Given the description of an element on the screen output the (x, y) to click on. 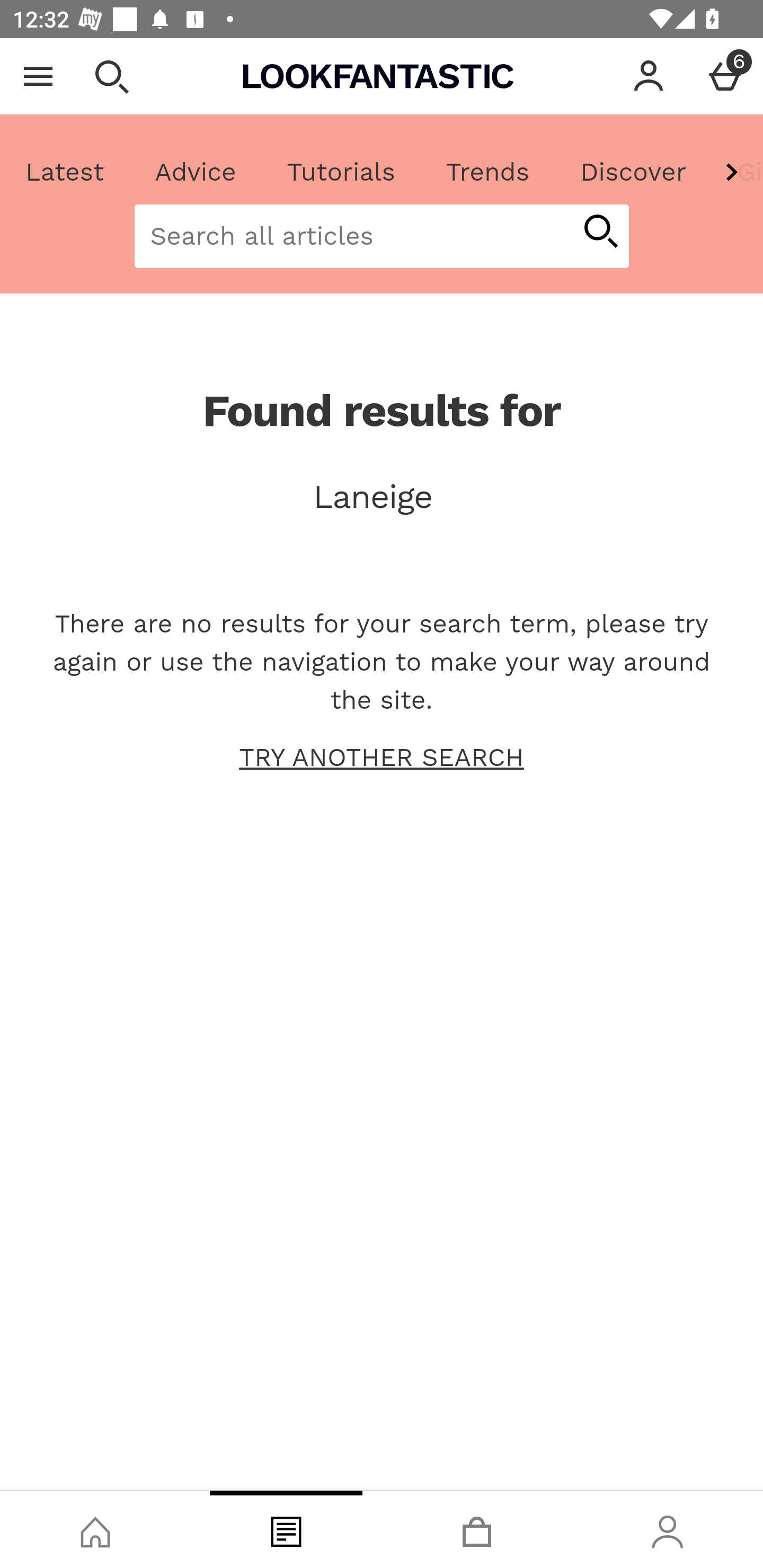
Open Menu (38, 75)
Open search (111, 75)
Account (648, 75)
Basket Menu (724, 75)
Lookfantastic USA Home page (378, 76)
Latest (65, 172)
Advice (195, 172)
Tutorials (340, 172)
Trends (486, 172)
Discover (632, 172)
Gift Guide (736, 172)
start article search (599, 232)
Laneige (381, 496)
TRY ANOTHER SEARCH (381, 757)
Shop, tab, 1 of 4 (95, 1529)
Blog, tab, 2 of 4 (285, 1529)
Basket, tab, 3 of 4 (476, 1529)
Account, tab, 4 of 4 (667, 1529)
